Given the description of an element on the screen output the (x, y) to click on. 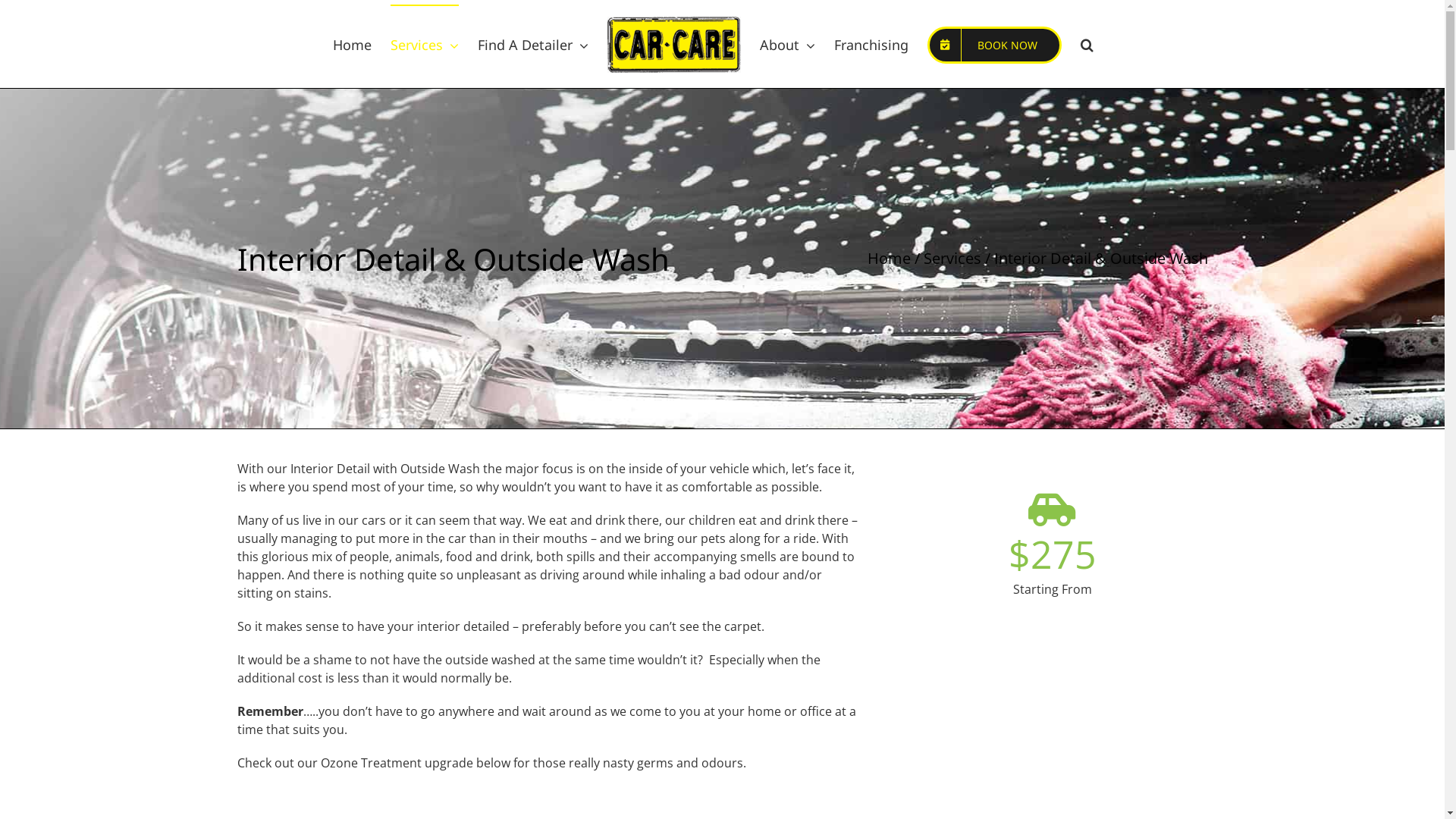
Services Element type: text (952, 257)
Search Element type: hover (1085, 44)
BOOK NOW Element type: text (993, 44)
About Element type: text (787, 44)
Find A Detailer Element type: text (532, 44)
Home Element type: text (351, 44)
Services Element type: text (423, 44)
Home Element type: text (888, 257)
Franchising Element type: text (871, 44)
